Given the description of an element on the screen output the (x, y) to click on. 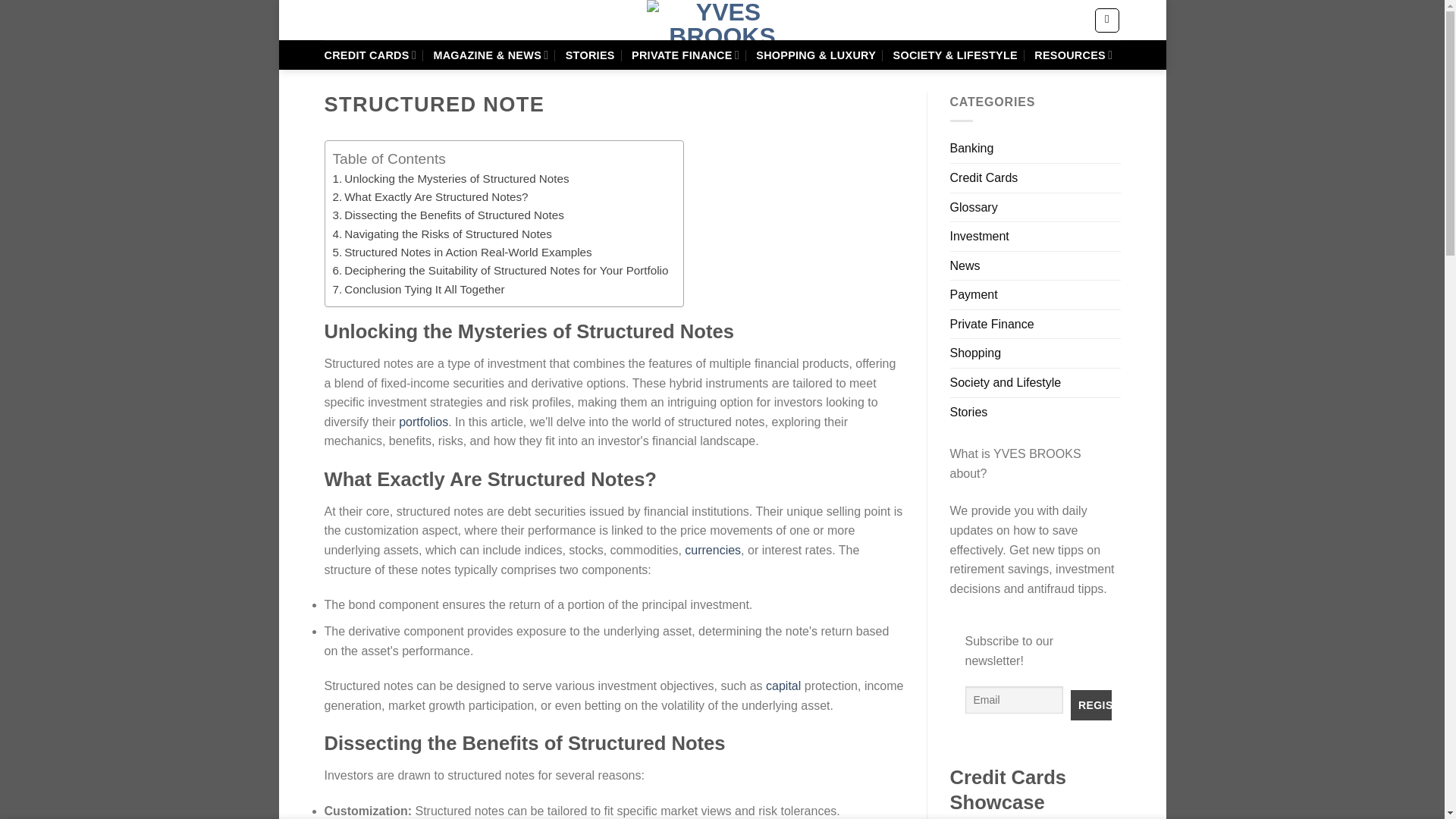
What Exactly Are Structured Notes? (429, 197)
PRIVATE FINANCE (685, 54)
portfolios (423, 421)
CREDIT CARDS (370, 54)
Dissecting the Benefits of Structured Notes (447, 215)
Unlocking the Mysteries of Structured Notes (450, 178)
currencies (712, 549)
Capital (782, 685)
Conclusion Tying It All Together (417, 289)
Conclusion Tying It All Together (417, 289)
Portfolio (423, 421)
capital (782, 685)
What Exactly Are Structured Notes? (429, 197)
